Given the description of an element on the screen output the (x, y) to click on. 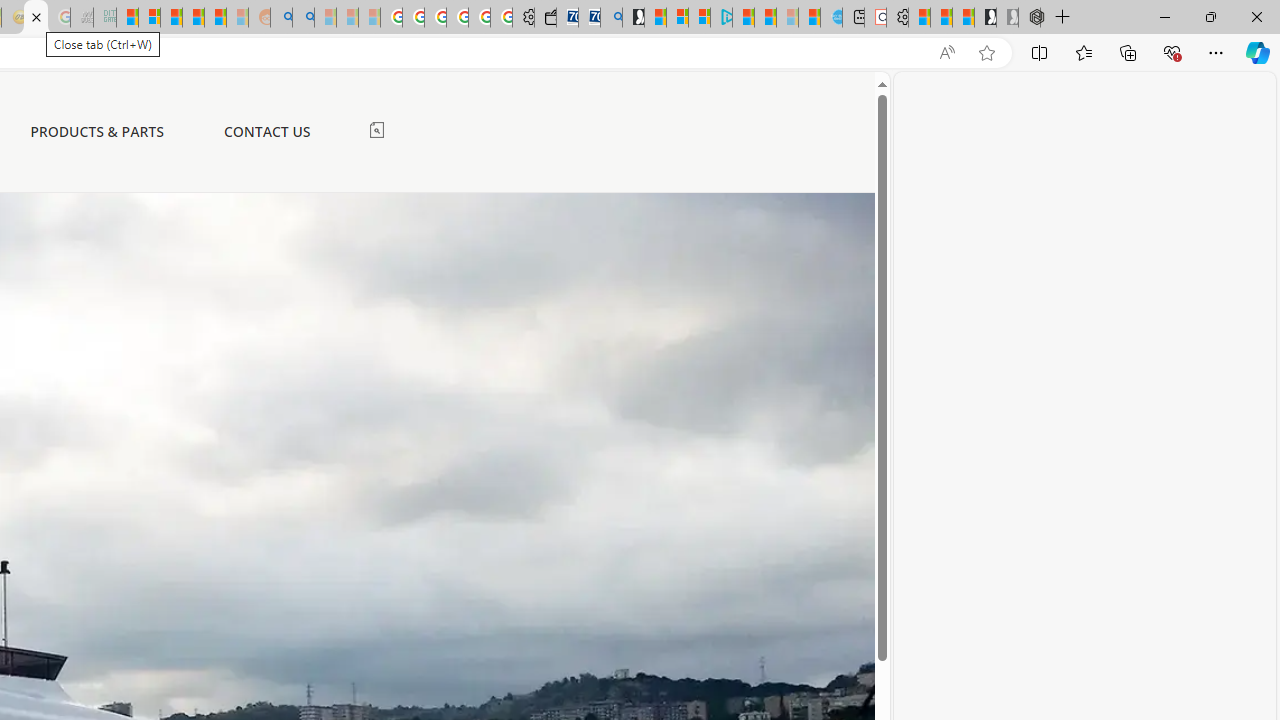
Bing Real Estate - Home sales and rental listings (611, 17)
PRODUCTS & PARTS (97, 131)
Utah sues federal government - Search (303, 17)
CONTACT US (266, 132)
